Given the description of an element on the screen output the (x, y) to click on. 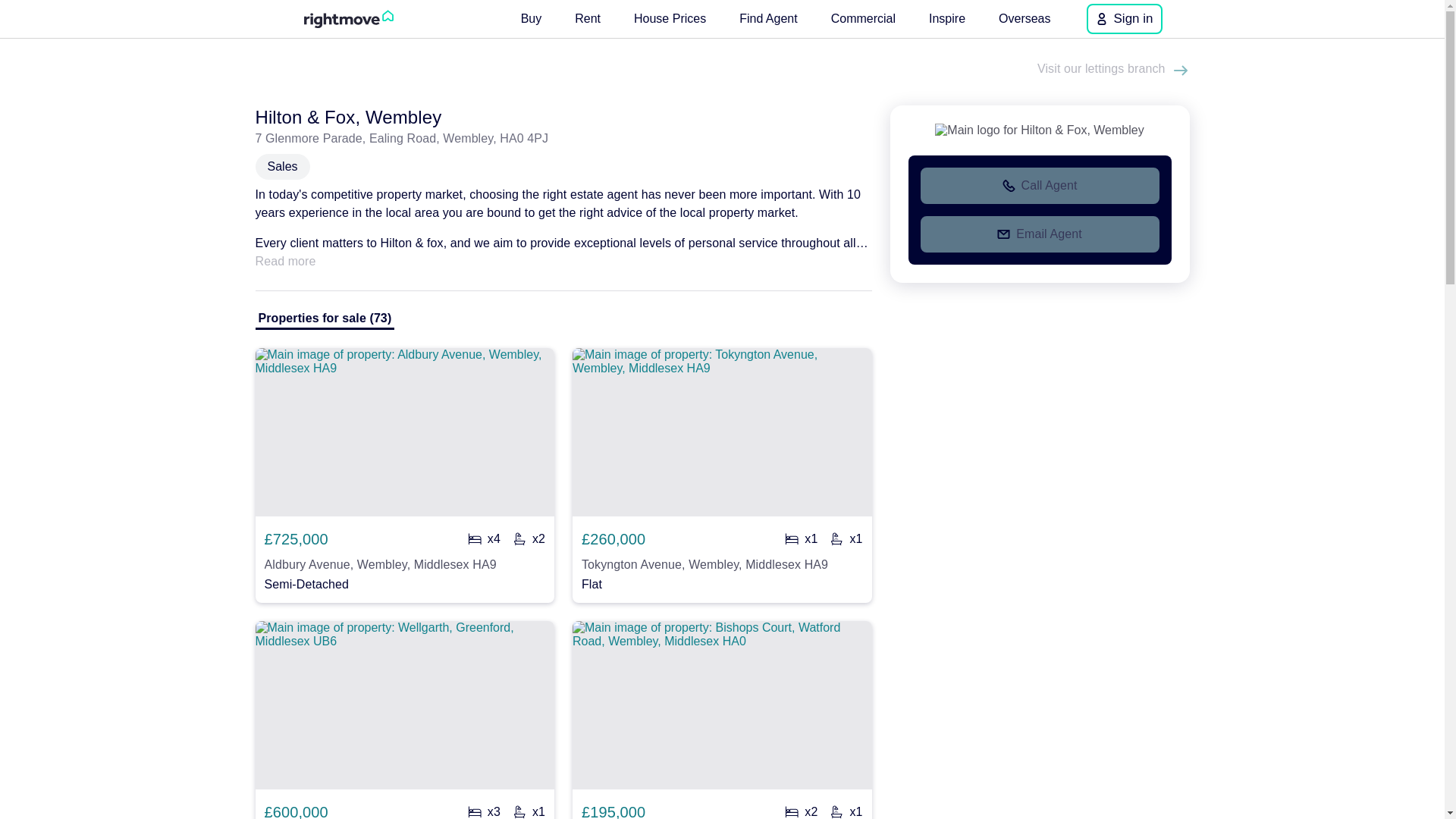
Buy (531, 18)
Find Agent (768, 18)
Rent (588, 18)
Overseas (1024, 18)
Commercial (863, 18)
Inspire (947, 18)
House Prices (669, 18)
